Given the description of an element on the screen output the (x, y) to click on. 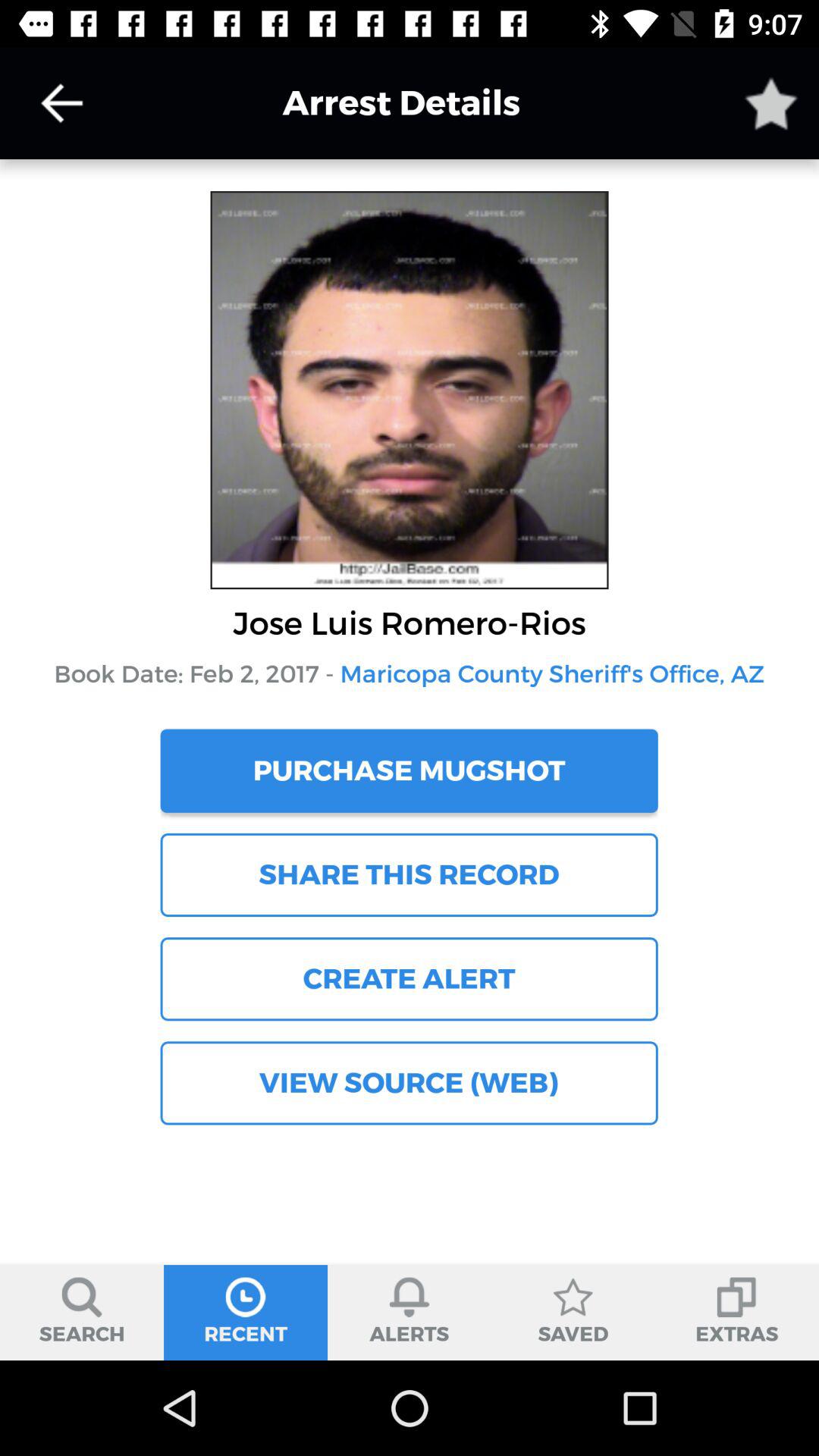
go to previous (61, 103)
